Given the description of an element on the screen output the (x, y) to click on. 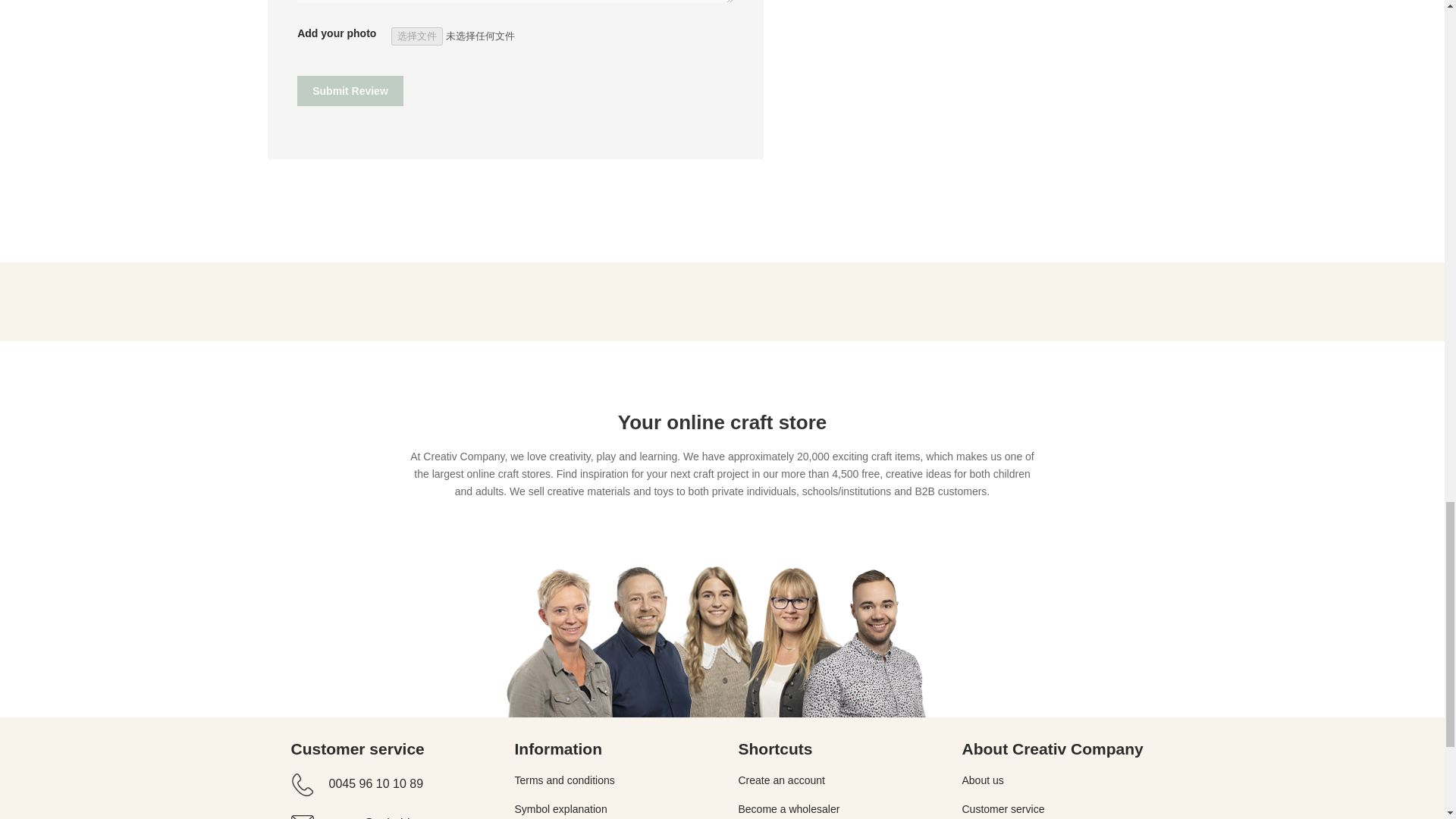
Terms and conditions (563, 779)
Add your photo (487, 36)
Symbol explanation (560, 808)
